Given the description of an element on the screen output the (x, y) to click on. 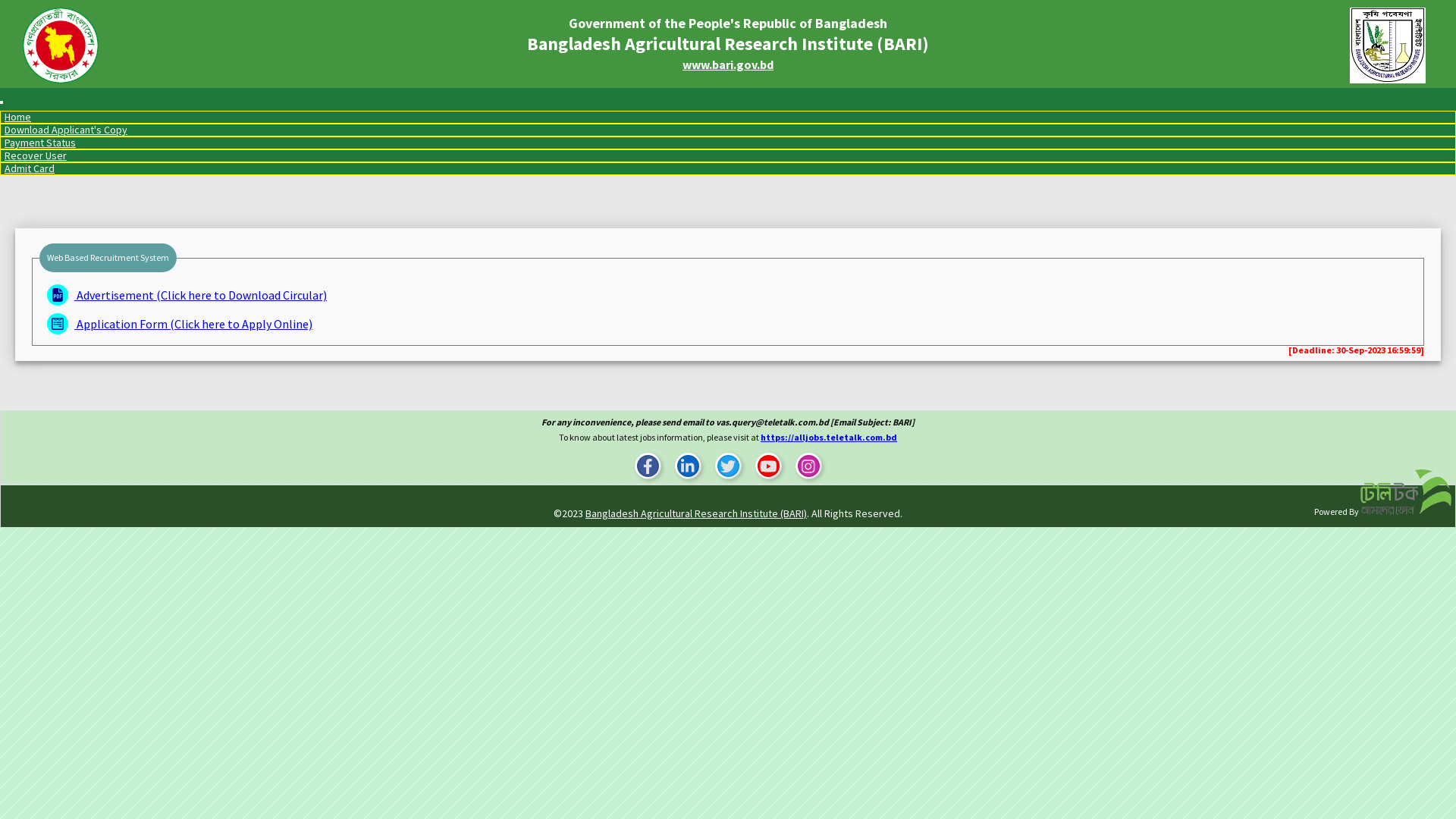
Payment Status Element type: text (39, 142)
Bangladesh Agricultural Research Institute (BARI) Element type: text (695, 513)
Recover User Element type: text (35, 155)
Application Form (Click here to Apply Online) Element type: text (175, 323)
Home
(current) Element type: text (17, 116)
www.bari.gov.bd Element type: text (727, 64)
Admit Card Element type: text (29, 168)
https://alljobs.teletalk.com.bd Element type: text (828, 436)
Advertisement (Click here to Download Circular) Element type: text (182, 294)
Download Applicant's Copy Element type: text (65, 129)
Powered By: Teletalk Element type: hover (1405, 491)
